Given the description of an element on the screen output the (x, y) to click on. 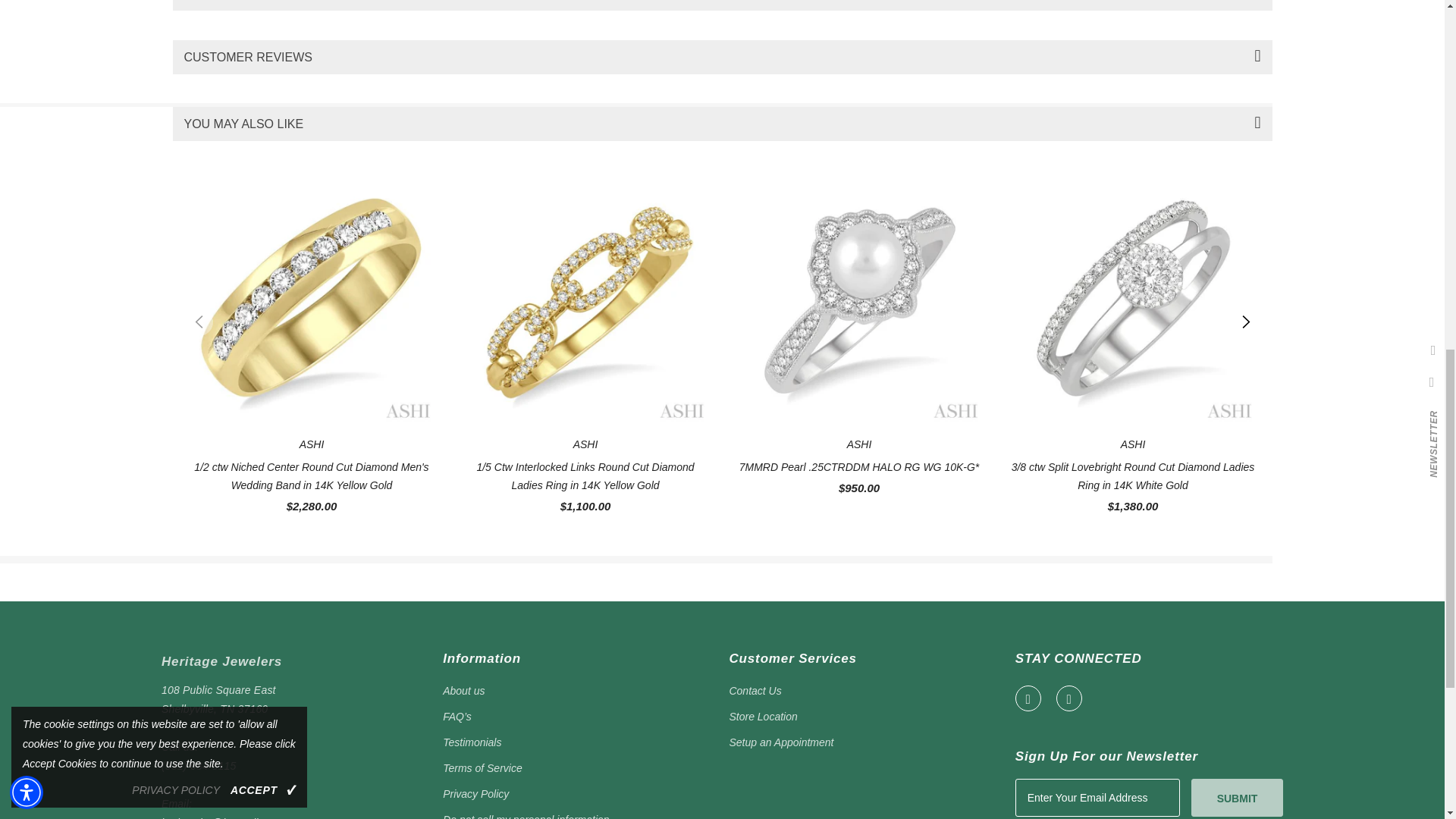
Submit (1236, 796)
